Given the description of an element on the screen output the (x, y) to click on. 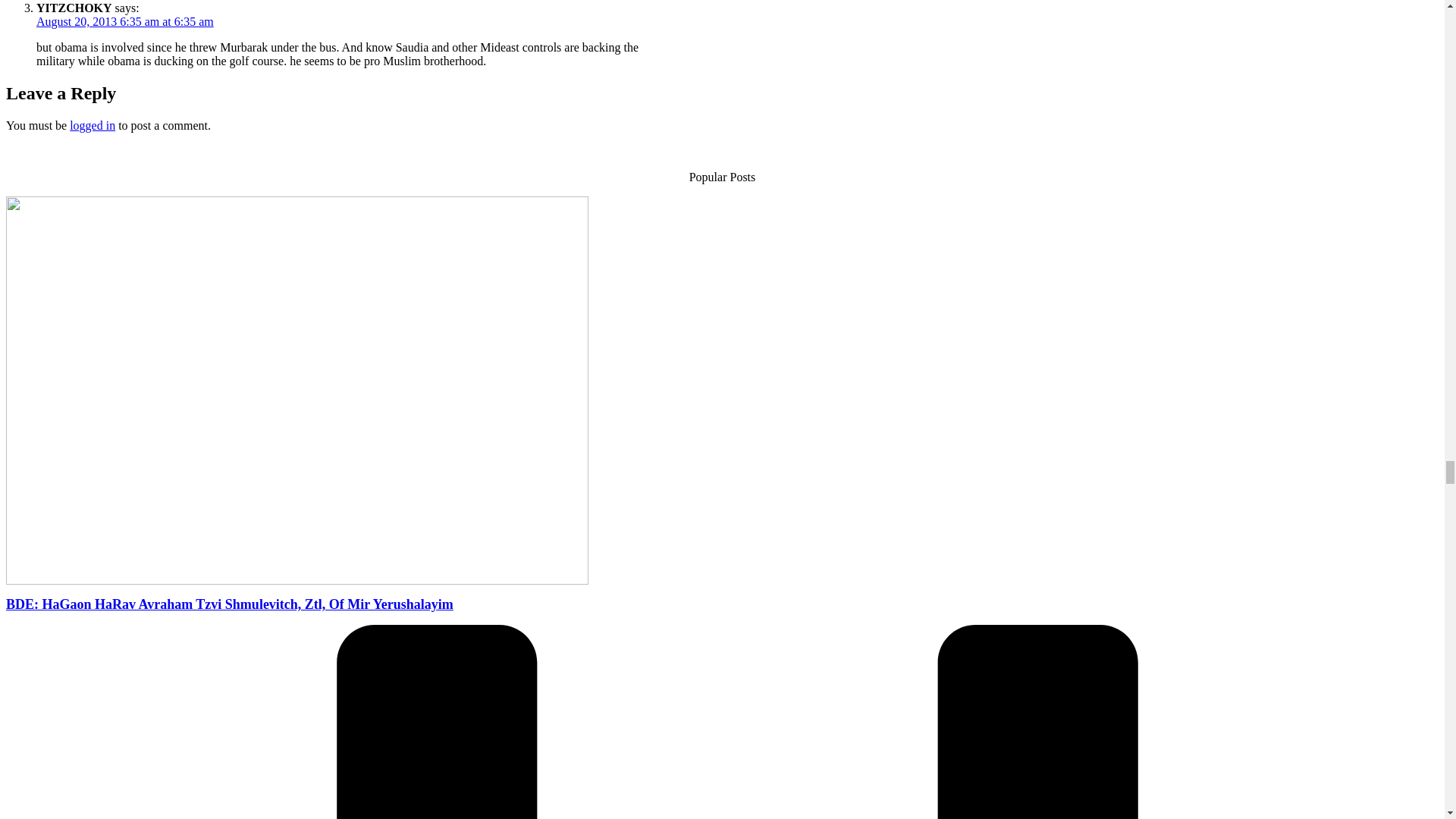
August 20, 2013 6:35 am at 6:35 am (125, 21)
logged in (92, 124)
